Given the description of an element on the screen output the (x, y) to click on. 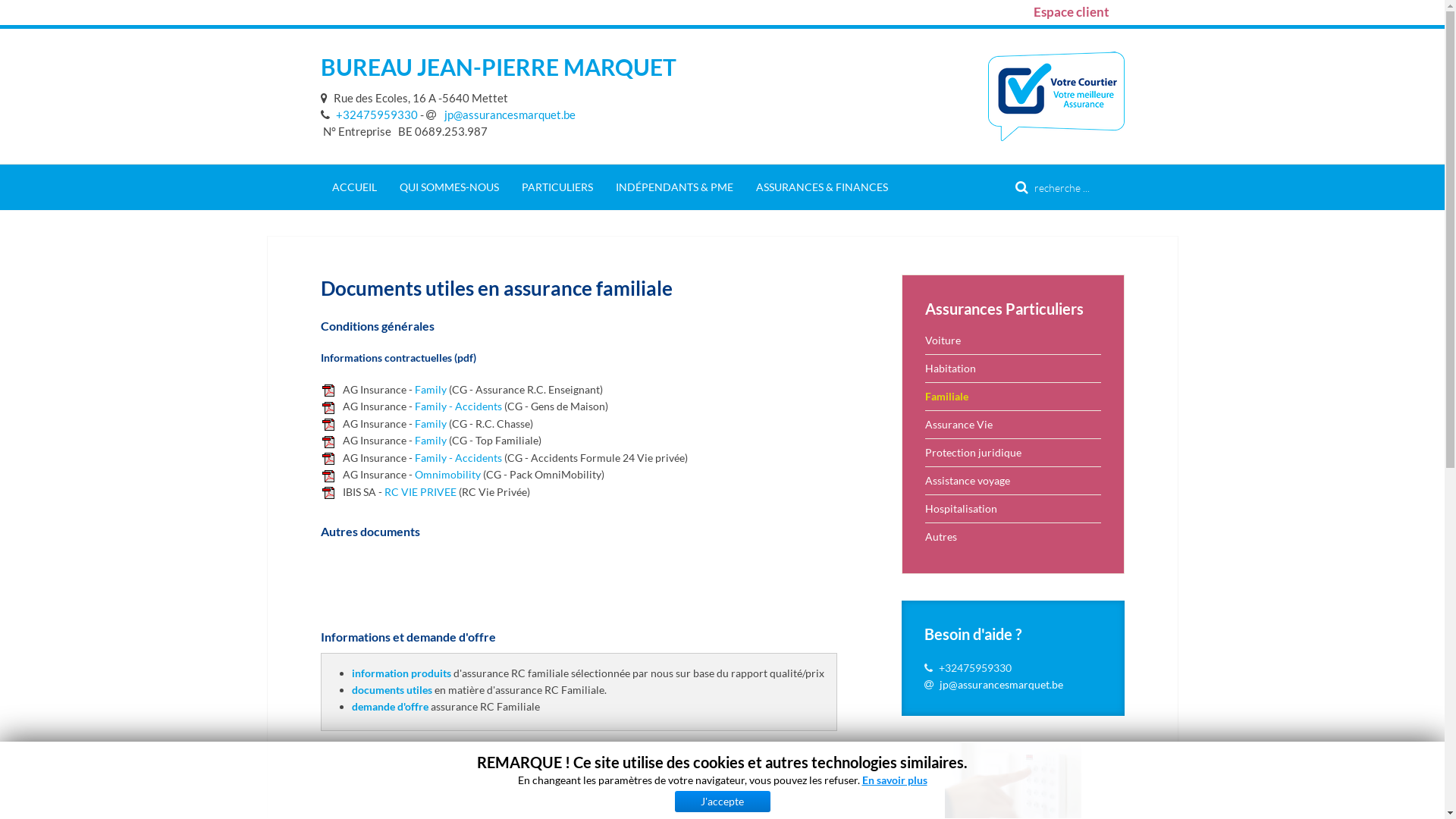
information produits Element type: text (401, 672)
PARTICULIERS Element type: text (556, 187)
documents utiles Element type: text (391, 689)
BUREAU JEAN-PIERRE MARQUET Element type: text (497, 66)
   jp@assurancesmarquet.be Element type: text (500, 114)
Familiale Element type: text (1013, 396)
Autres Element type: text (1013, 536)
   Element type: text (326, 97)
Hospitalisation Element type: text (1013, 508)
Protection juridique Element type: text (1013, 452)
Voiture Element type: text (1013, 340)
Assurance Vie Element type: text (1013, 424)
Habitation Element type: text (1013, 368)
ACCUEIL Element type: text (353, 187)
Family Element type: text (429, 439)
Family - Accidents Element type: text (457, 457)
Family Element type: text (429, 423)
QUI SOMMES-NOUS Element type: text (449, 187)
Espace client Element type: text (1070, 11)
Family Element type: text (429, 388)
demande d'offre Element type: text (389, 705)
Family - Accidents Element type: text (457, 405)
jp@assurancesmarquet.be Element type: text (1001, 683)
  +32475959330 Element type: text (368, 114)
ASSURANCES & FINANCES Element type: text (821, 187)
Omnimobility Element type: text (447, 473)
Assistance voyage Element type: text (1013, 480)
RC VIE PRIVEE Element type: text (419, 491)
